Given the description of an element on the screen output the (x, y) to click on. 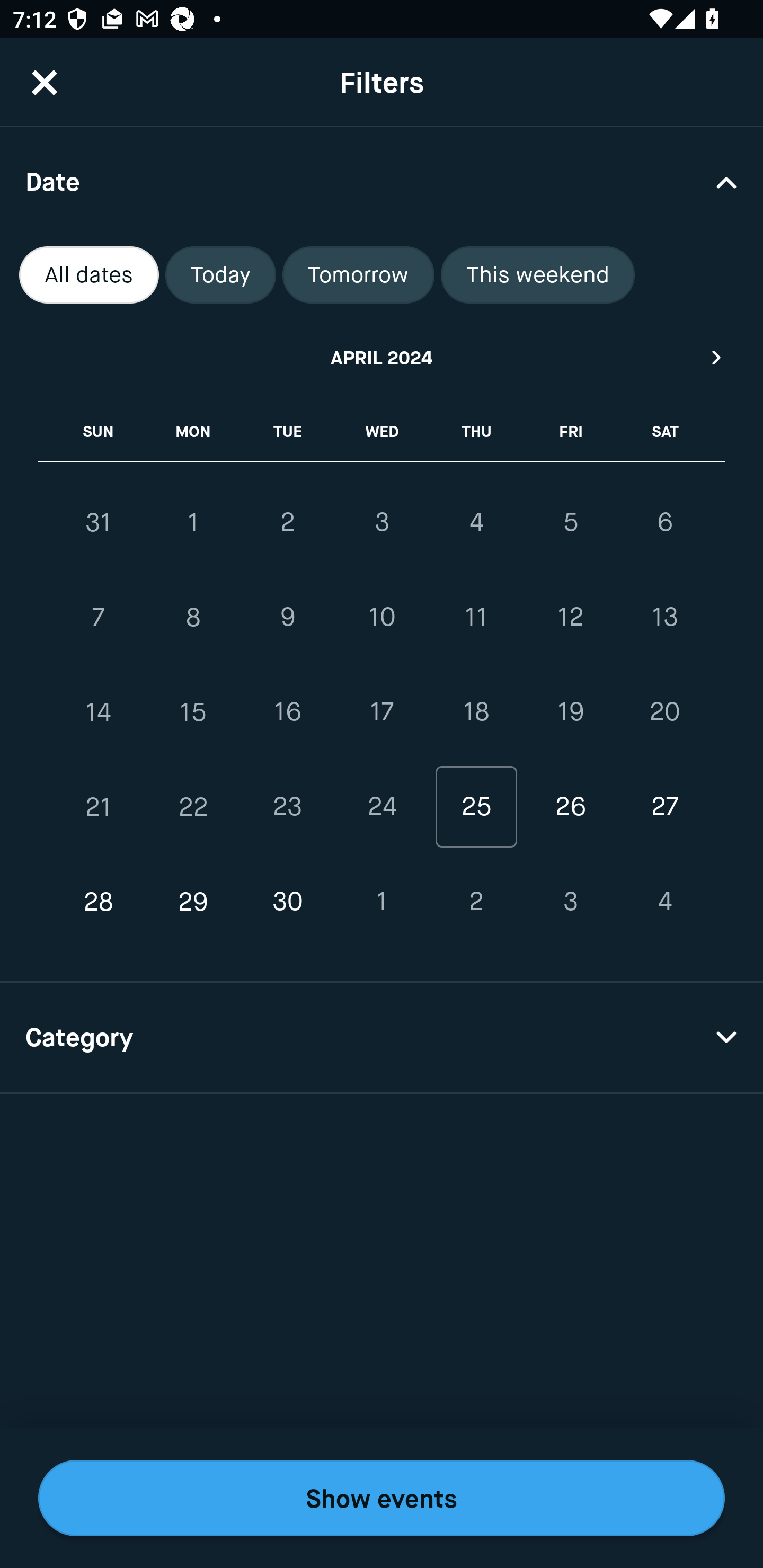
CloseButton (44, 82)
Date Drop Down Arrow (381, 181)
All dates (88, 274)
Today (220, 274)
Tomorrow (358, 274)
This weekend (537, 274)
Next (717, 357)
31 (98, 522)
1 (192, 522)
2 (287, 522)
3 (381, 522)
4 (475, 522)
5 (570, 522)
6 (664, 522)
7 (98, 617)
8 (192, 617)
9 (287, 617)
10 (381, 617)
11 (475, 617)
12 (570, 617)
13 (664, 617)
14 (98, 711)
15 (192, 711)
16 (287, 711)
17 (381, 711)
18 (475, 711)
19 (570, 711)
20 (664, 711)
21 (98, 806)
22 (192, 806)
23 (287, 806)
24 (381, 806)
25 (475, 806)
26 (570, 806)
27 (664, 806)
28 (98, 901)
29 (192, 901)
30 (287, 901)
1 (381, 901)
2 (475, 901)
3 (570, 901)
4 (664, 901)
Category Drop Down Arrow (381, 1038)
Show events (381, 1497)
